Given the description of an element on the screen output the (x, y) to click on. 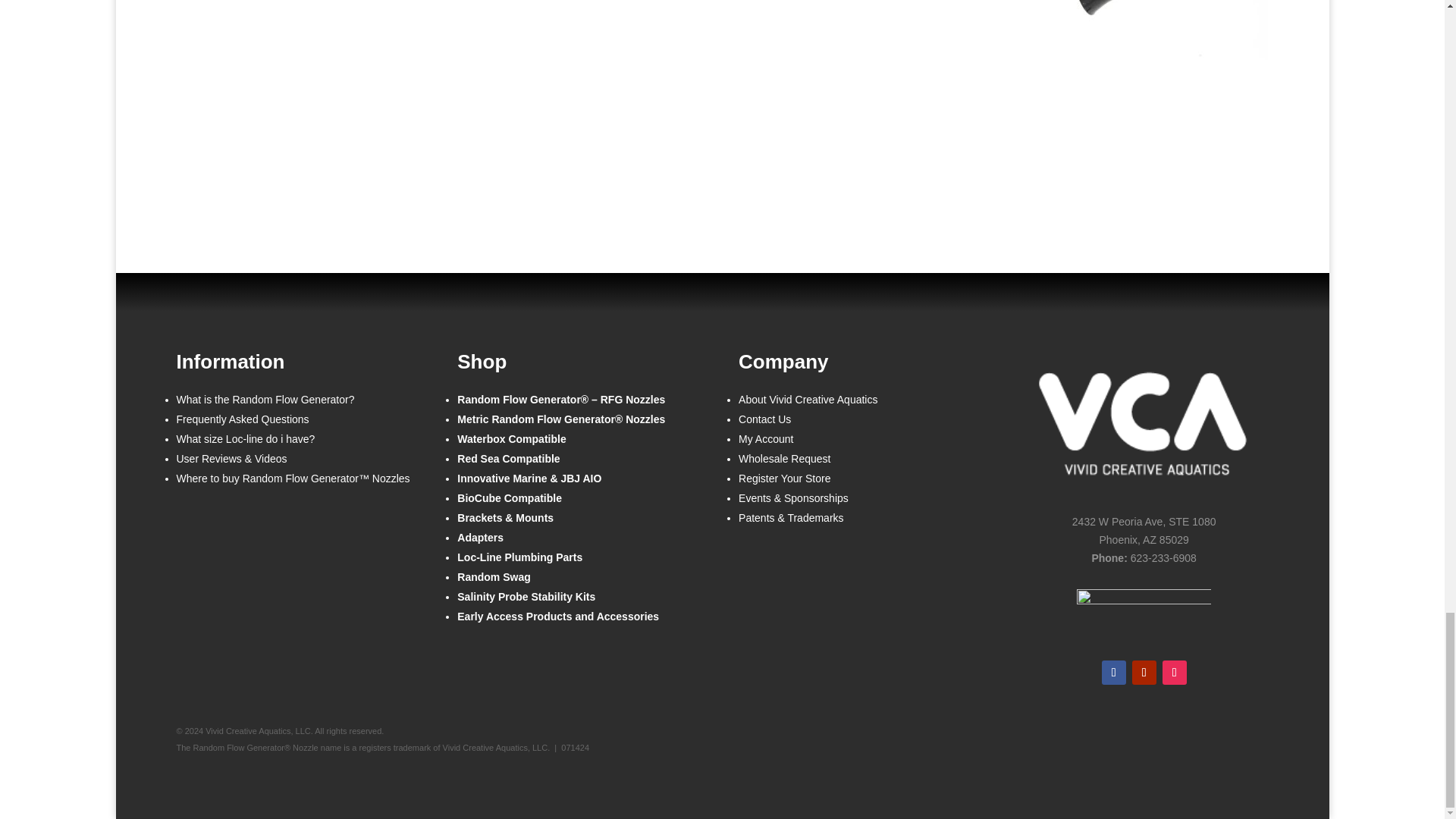
Follow on Facebook (1113, 672)
Frequently Asked Questions (242, 424)
What is the Random Flow Generator? (264, 404)
Follow on Youtube (1144, 672)
Follow on Instagram (1173, 672)
